Given the description of an element on the screen output the (x, y) to click on. 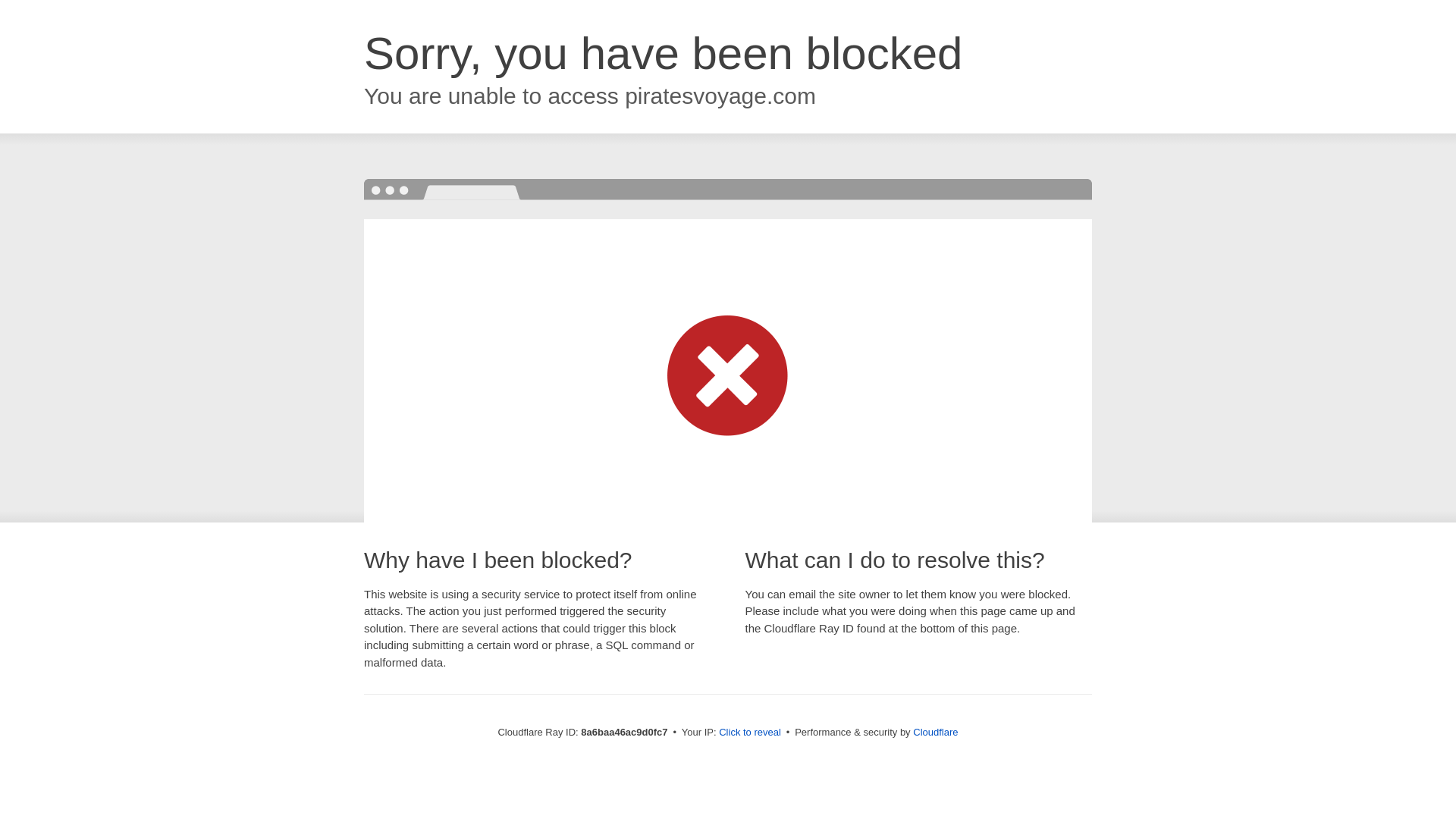
Cloudflare (935, 731)
Click to reveal (749, 732)
